Given the description of an element on the screen output the (x, y) to click on. 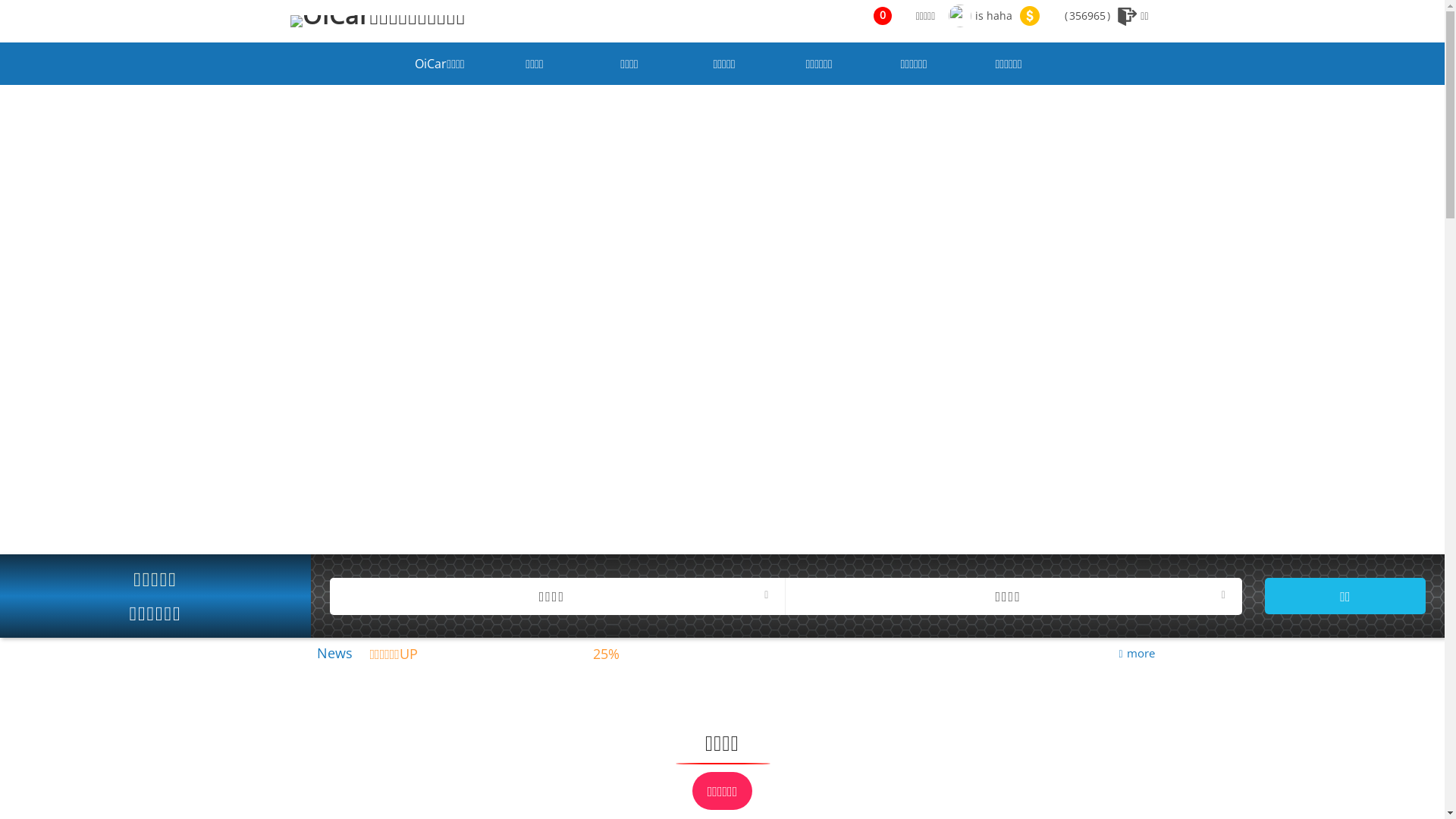
more Element type: text (1136, 652)
is haha Element type: text (980, 15)
